Given the description of an element on the screen output the (x, y) to click on. 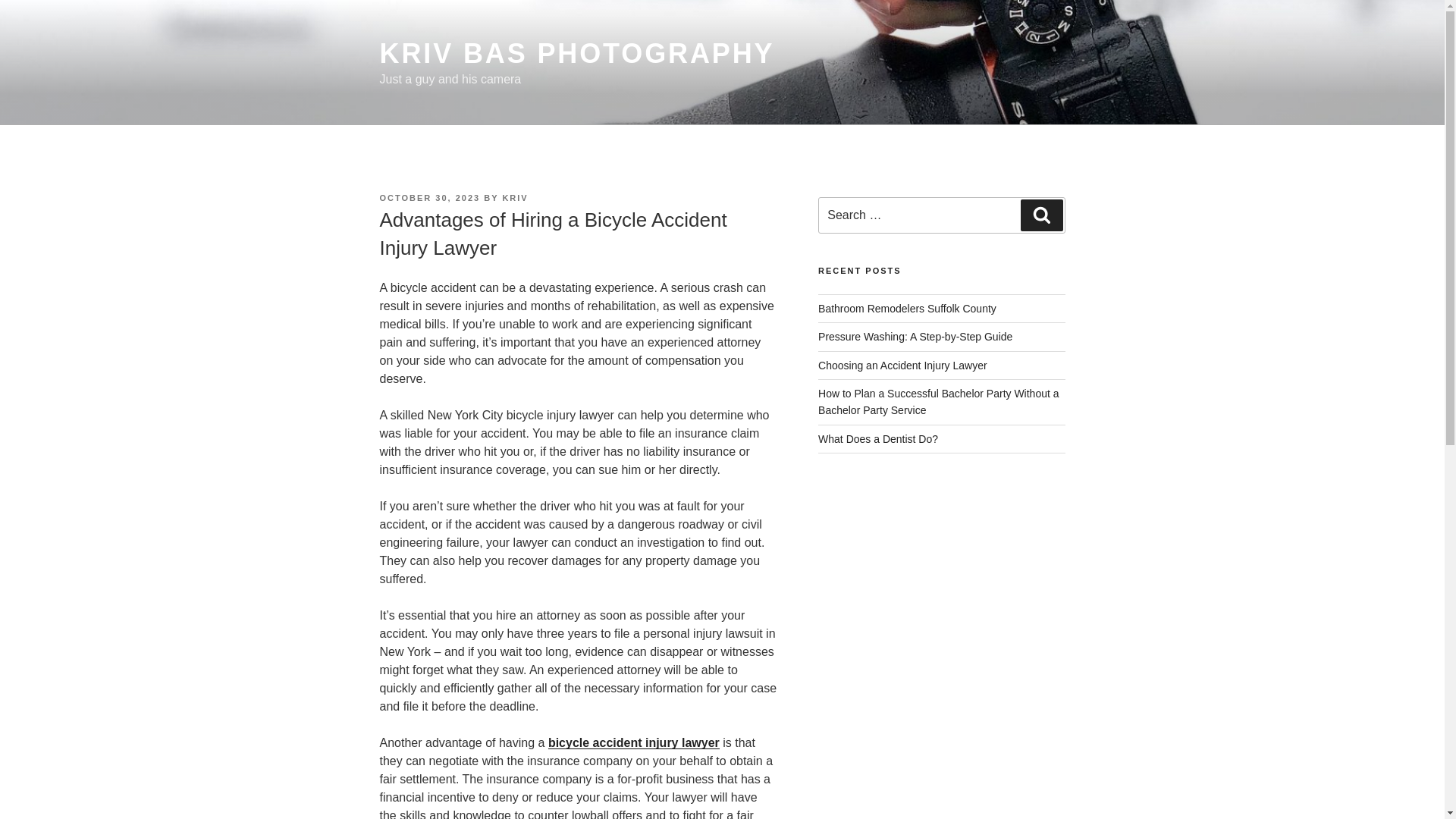
bicycle accident injury lawyer (633, 742)
Choosing an Accident Injury Lawyer (902, 365)
OCTOBER 30, 2023 (429, 197)
Search (1041, 214)
What Does a Dentist Do? (877, 439)
Pressure Washing: A Step-by-Step Guide (914, 336)
Bathroom Remodelers Suffolk County (906, 308)
KRIV BAS PHOTOGRAPHY (576, 52)
KRIV (514, 197)
